Given the description of an element on the screen output the (x, y) to click on. 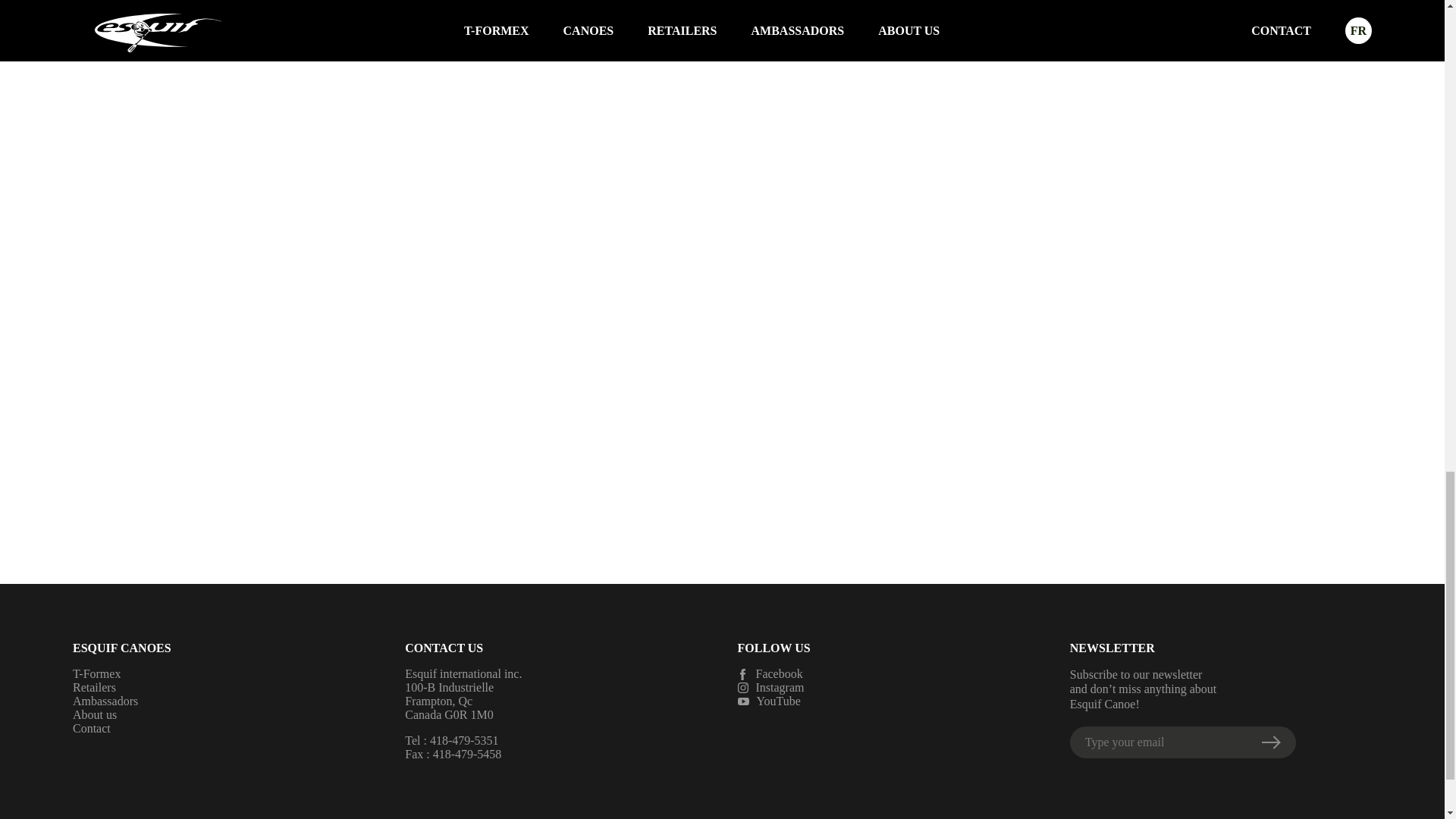
YouTube (887, 701)
Retailers (94, 686)
Ambassadors (105, 700)
418-479-5351 (464, 739)
Contact (91, 727)
Instagram (887, 687)
About us (94, 714)
Subscribe (1270, 741)
Subscribe (1270, 741)
Facebook (887, 673)
